Given the description of an element on the screen output the (x, y) to click on. 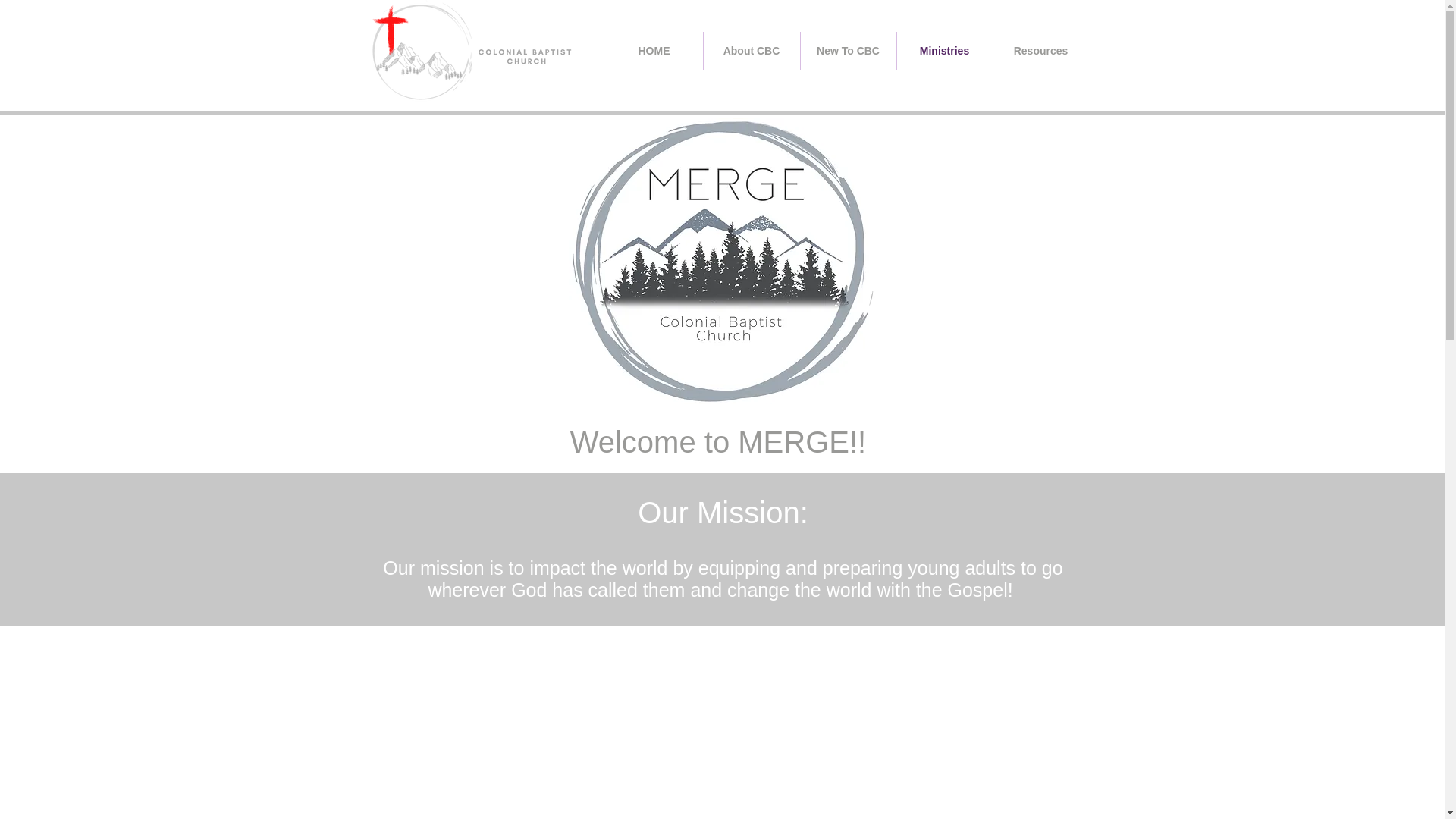
New To CBC (848, 50)
About CBC (751, 50)
Ministries (943, 50)
HOME (653, 50)
Resources (1040, 50)
